Given the description of an element on the screen output the (x, y) to click on. 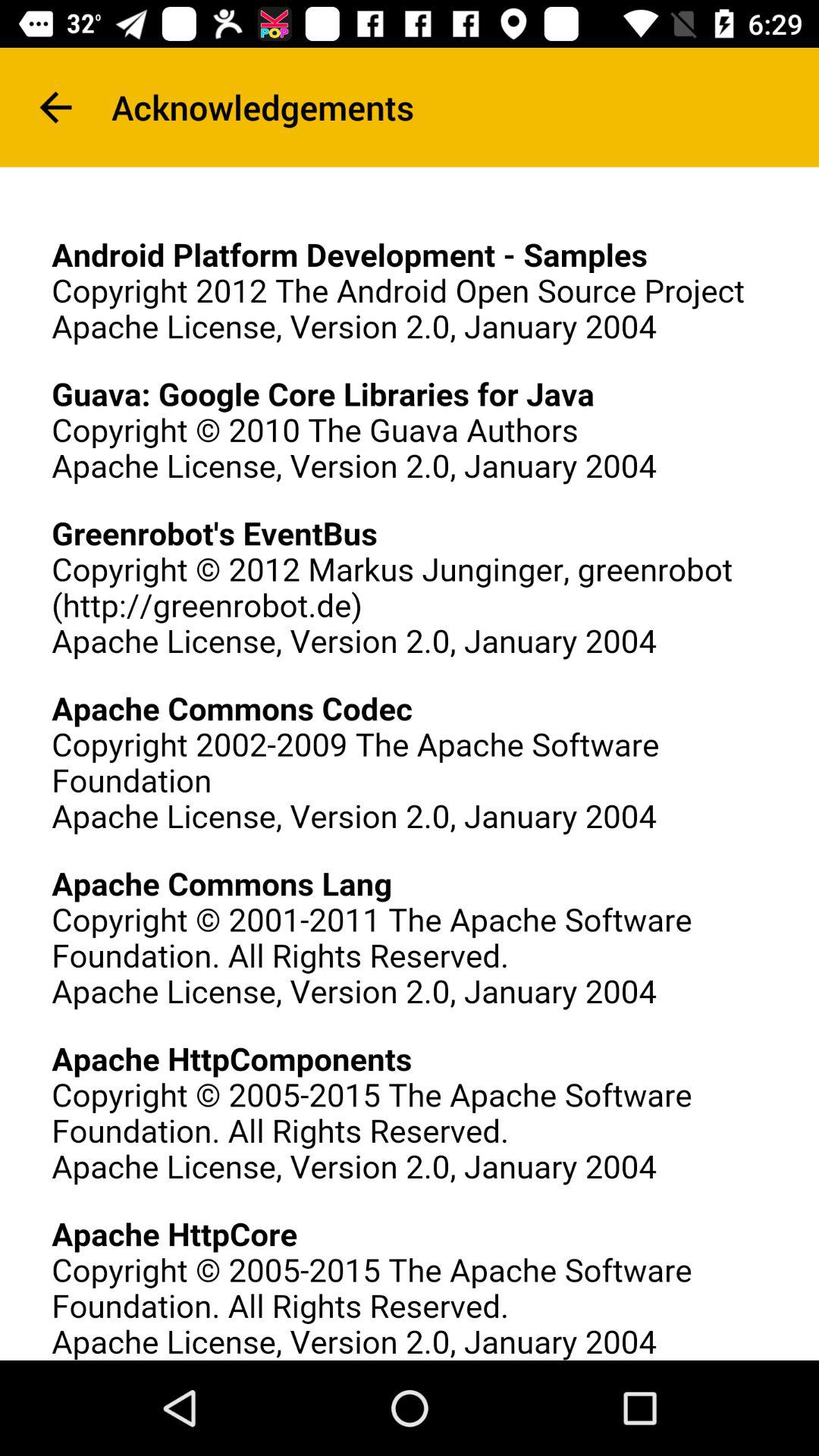
choose icon at the top left corner (55, 107)
